Given the description of an element on the screen output the (x, y) to click on. 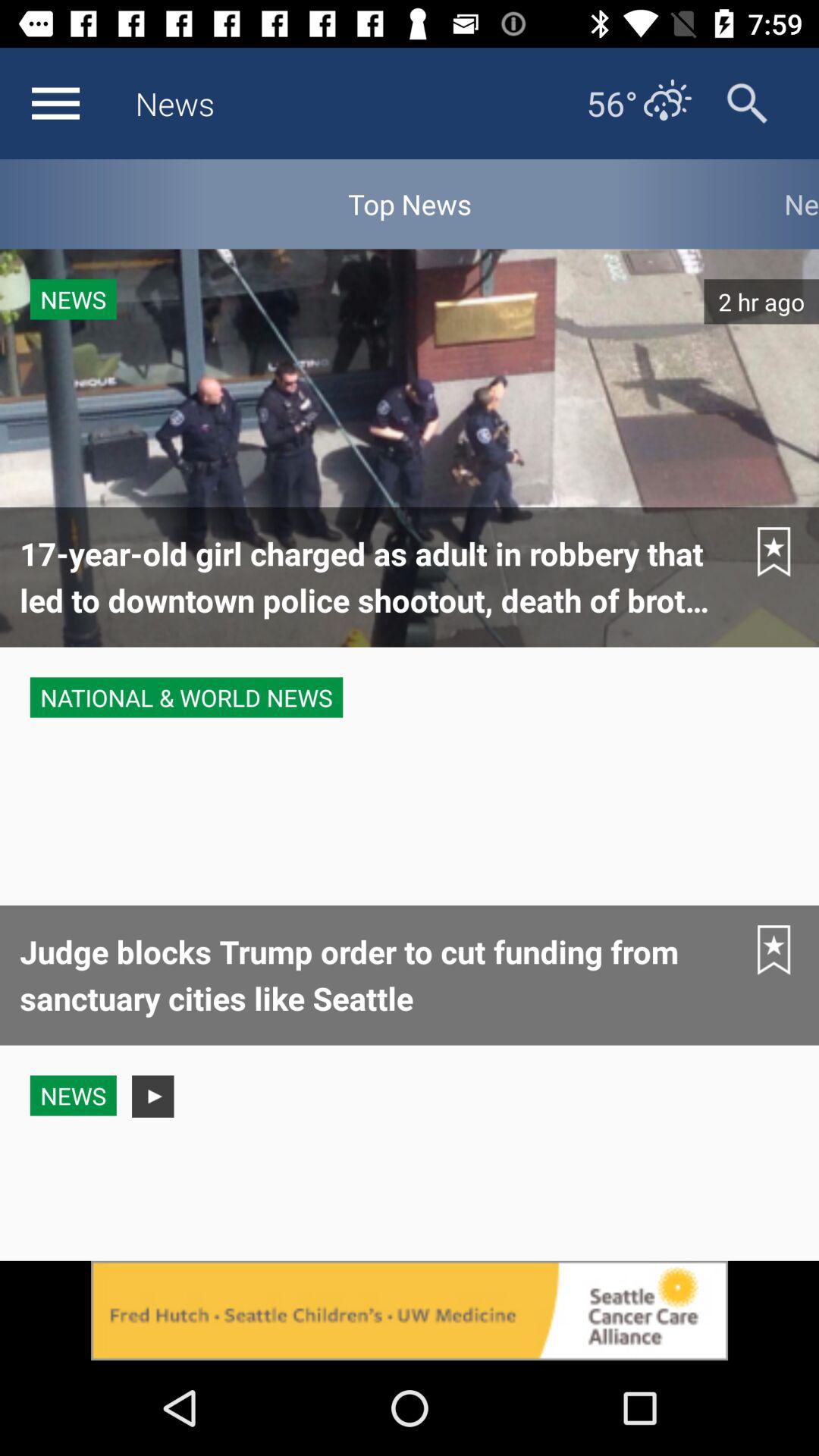
open menu (55, 103)
